Given the description of an element on the screen output the (x, y) to click on. 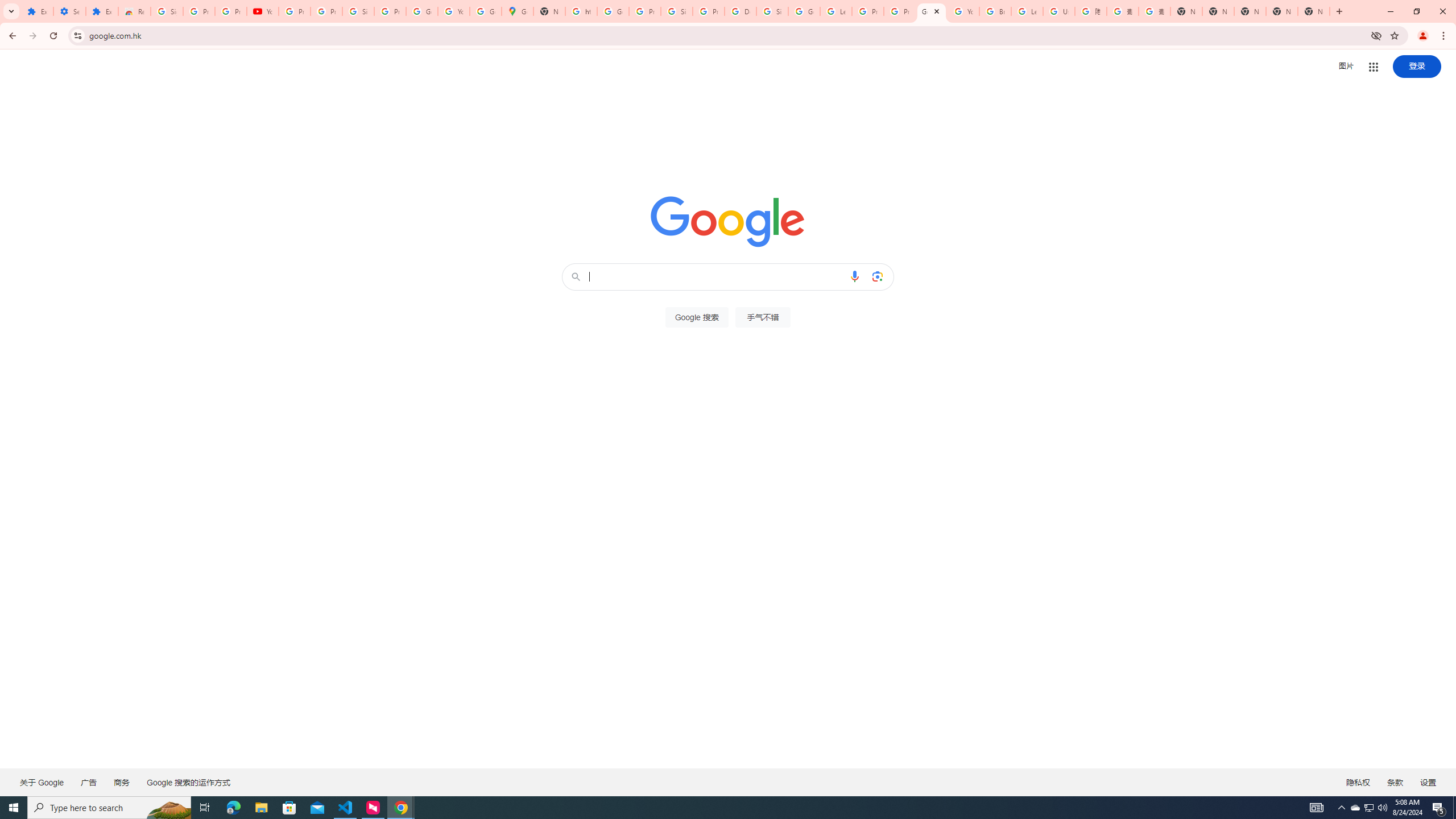
YouTube (963, 11)
New Tab (1185, 11)
Google Maps (517, 11)
Google Account (421, 11)
Privacy Help Center - Policies Help (868, 11)
New Tab (1313, 11)
Google (931, 11)
